Given the description of an element on the screen output the (x, y) to click on. 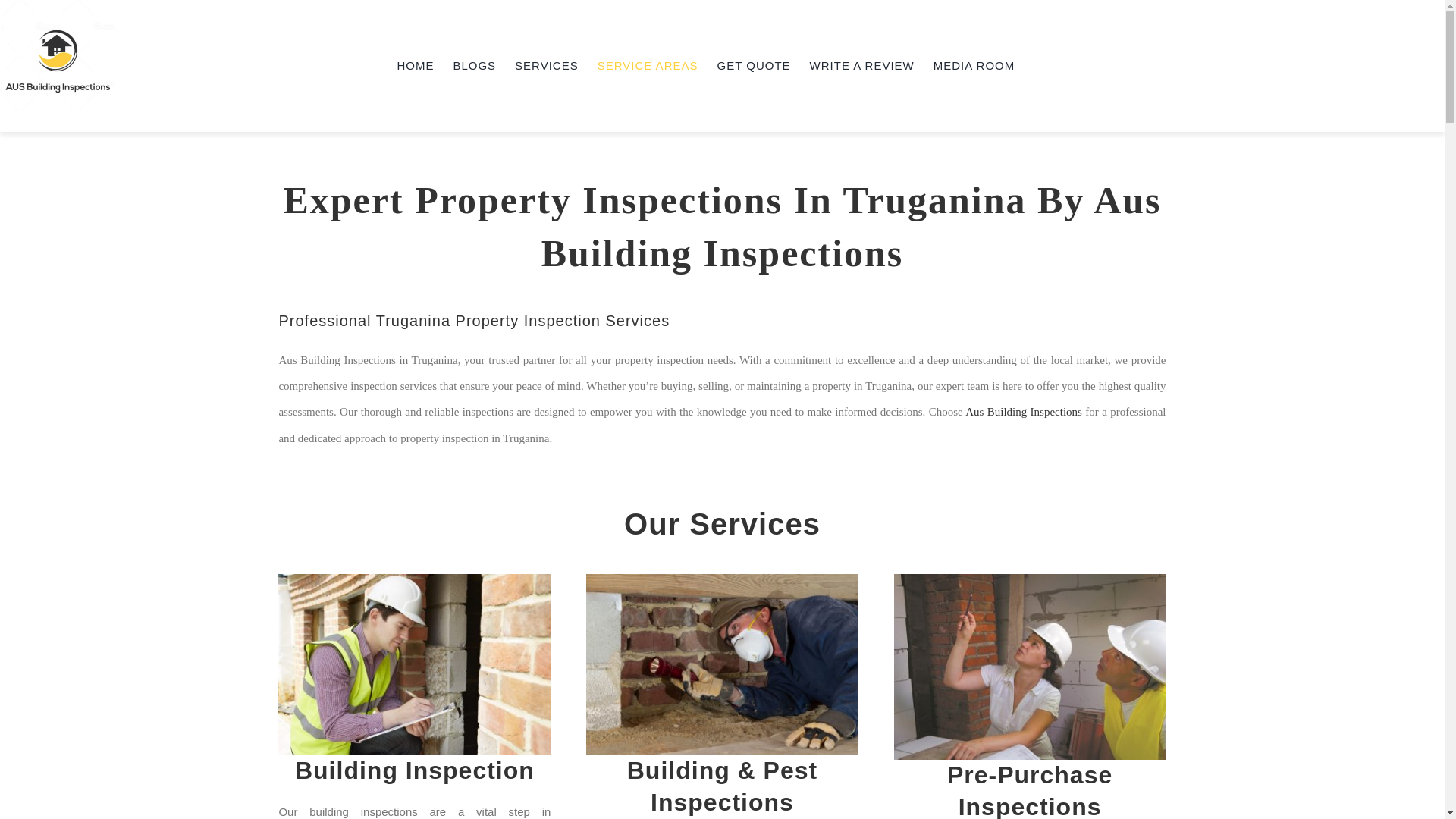
woman pointing the ceiling (1029, 667)
pests living on the wall (722, 664)
SERVICE AREAS (647, 65)
WRITE A REVIEW (861, 65)
dilapidation inspections 1 (414, 664)
Aus Building Inspections (1023, 411)
